Given the description of an element on the screen output the (x, y) to click on. 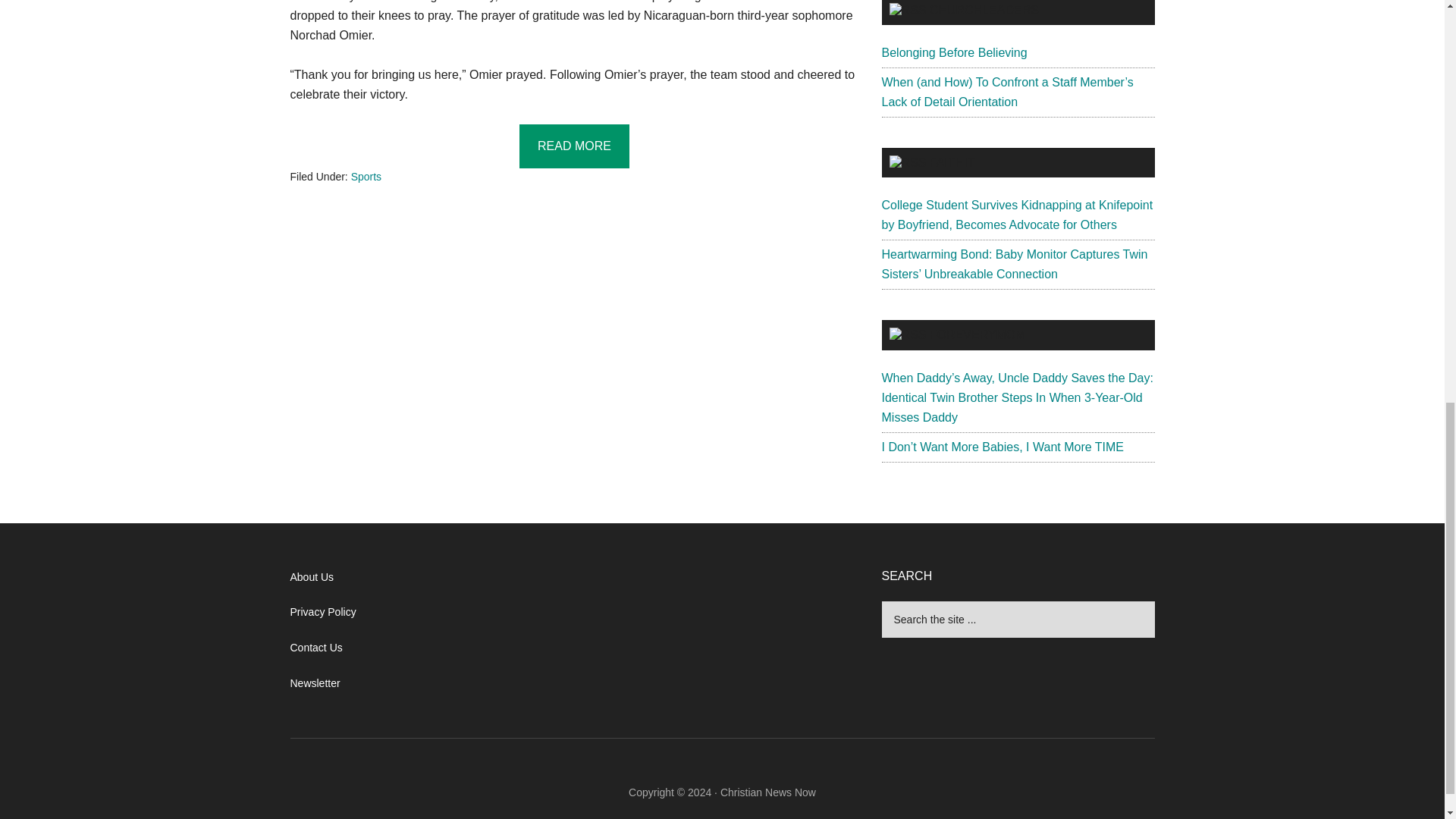
Sports (365, 176)
FOREVERYMOM (978, 334)
Belonging Before Believing (953, 51)
CHURCHLEADERS (984, 10)
READ MORE (573, 146)
About Us (311, 576)
FAITHIT (952, 162)
